Given the description of an element on the screen output the (x, y) to click on. 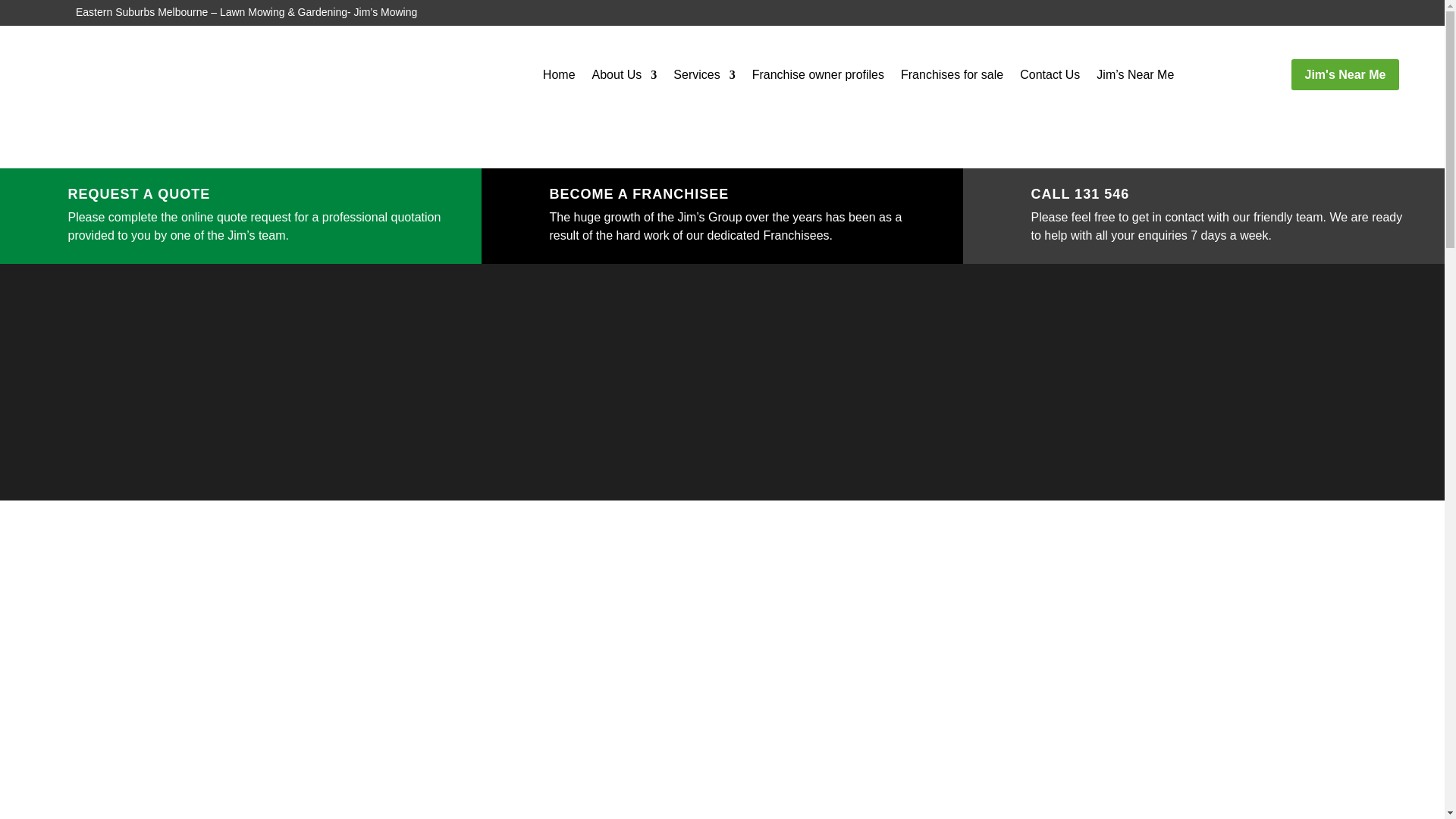
Jim's Near Me (1344, 74)
Franchises for sale (952, 77)
Jim's Mowing Eastern Suburbs (150, 96)
Home (559, 77)
Services (703, 77)
Franchise owner profiles (817, 77)
REQUEST A QUOTE (137, 193)
BECOME A FRANCHISEE (638, 193)
Contact Us (1050, 77)
About Us (625, 77)
CALL 131 546 (1079, 193)
